Given the description of an element on the screen output the (x, y) to click on. 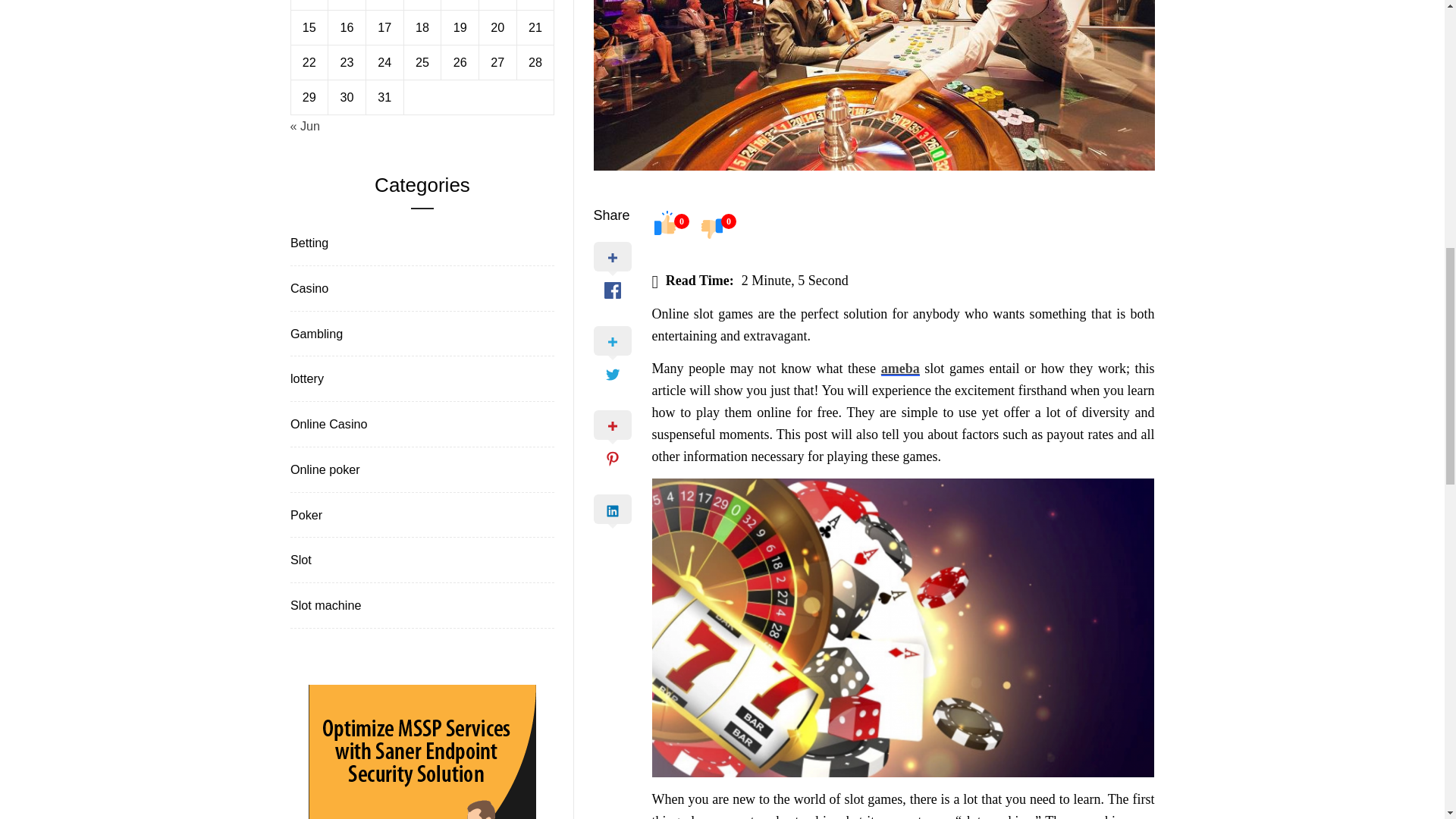
lottery (304, 378)
Casino (307, 288)
Gambling (314, 333)
Betting (307, 242)
ameba (900, 368)
